Given the description of an element on the screen output the (x, y) to click on. 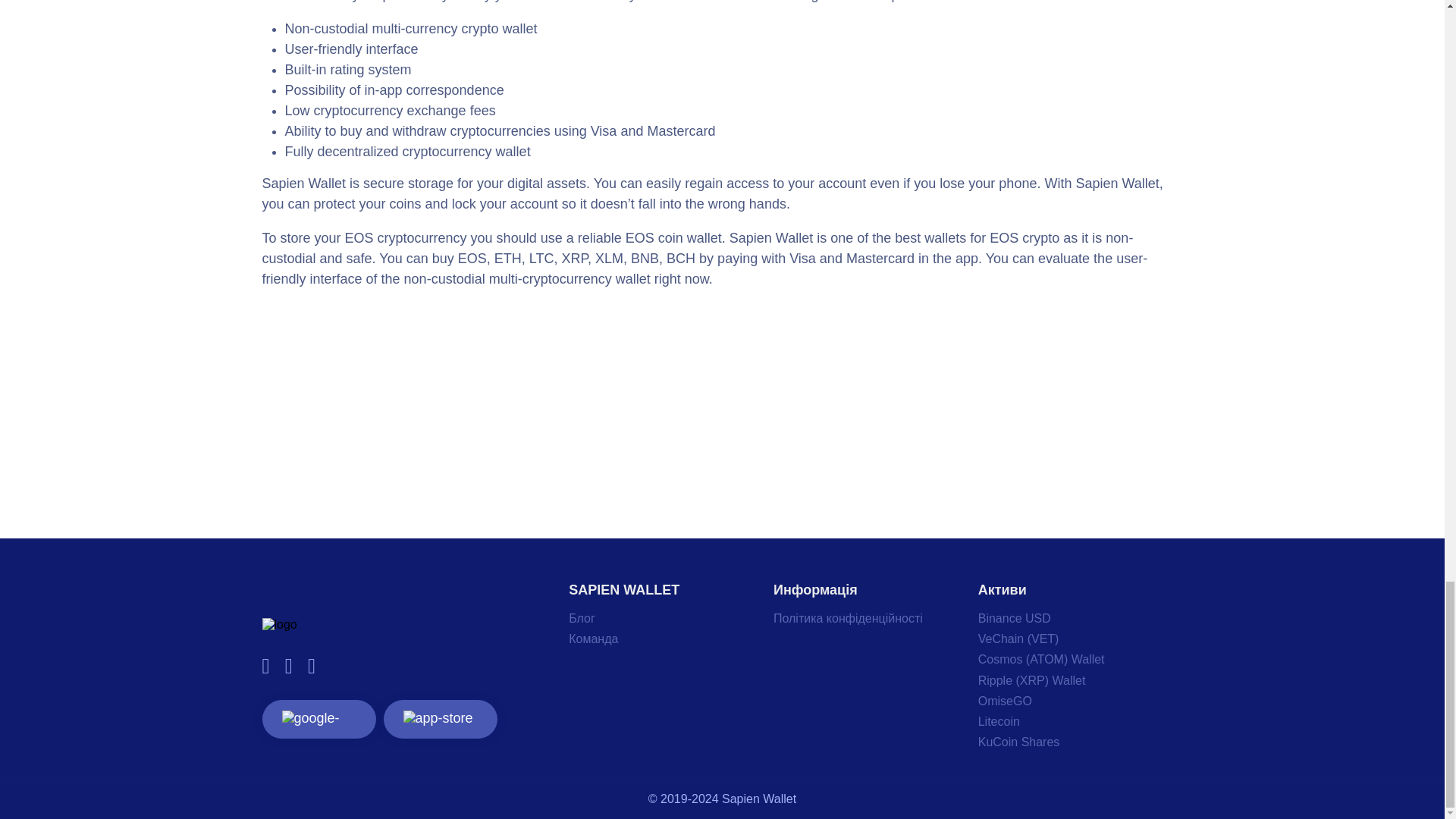
Binance USD (1014, 617)
KuCoin Shares (1018, 741)
Litecoin (999, 721)
OmiseGO (1005, 700)
